Given the description of an element on the screen output the (x, y) to click on. 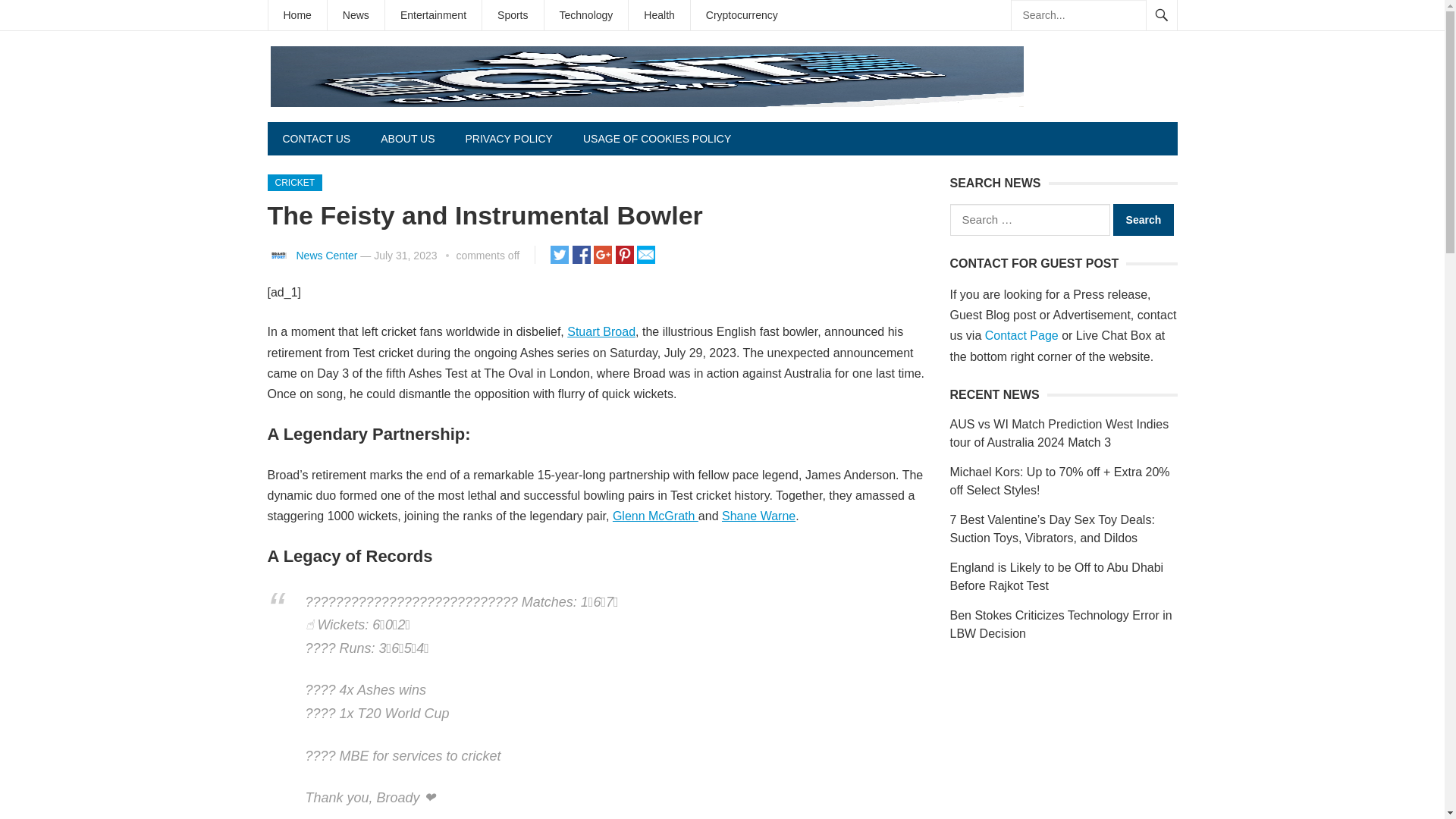
Posts by News Center (325, 255)
View all posts in Cricket (293, 182)
Technology (586, 15)
CRICKET (293, 182)
ABOUT US (407, 138)
Entertainment (433, 15)
Health (658, 15)
News Center (325, 255)
CONTACT US (315, 138)
Search (1143, 219)
Home (296, 15)
Cryptocurrency (741, 15)
Stuart Broad (600, 331)
News (355, 15)
USAGE OF COOKIES POLICY (656, 138)
